Given the description of an element on the screen output the (x, y) to click on. 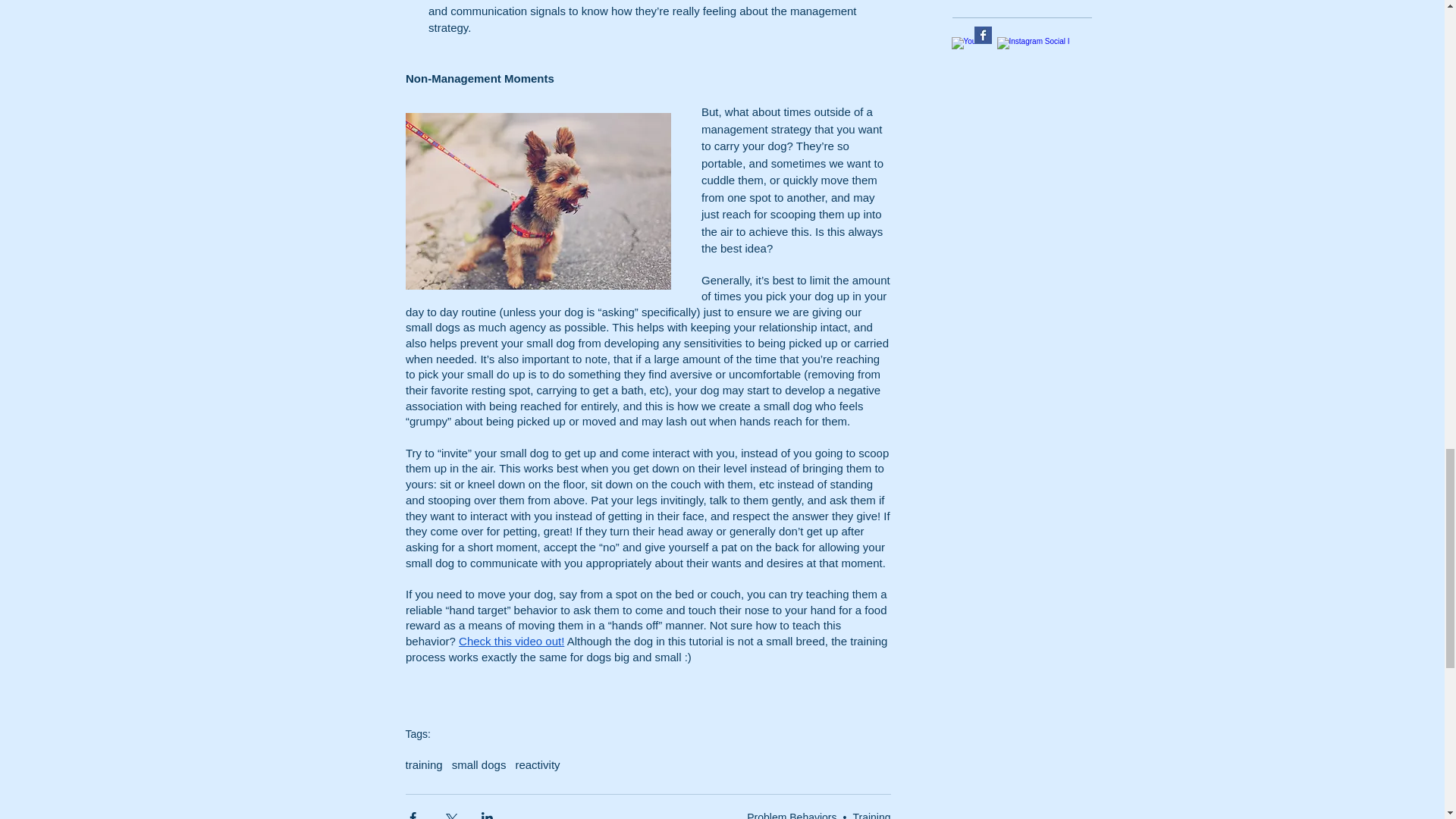
training (423, 764)
Check this video out! (511, 640)
small dogs (478, 764)
reactivity (537, 764)
